Given the description of an element on the screen output the (x, y) to click on. 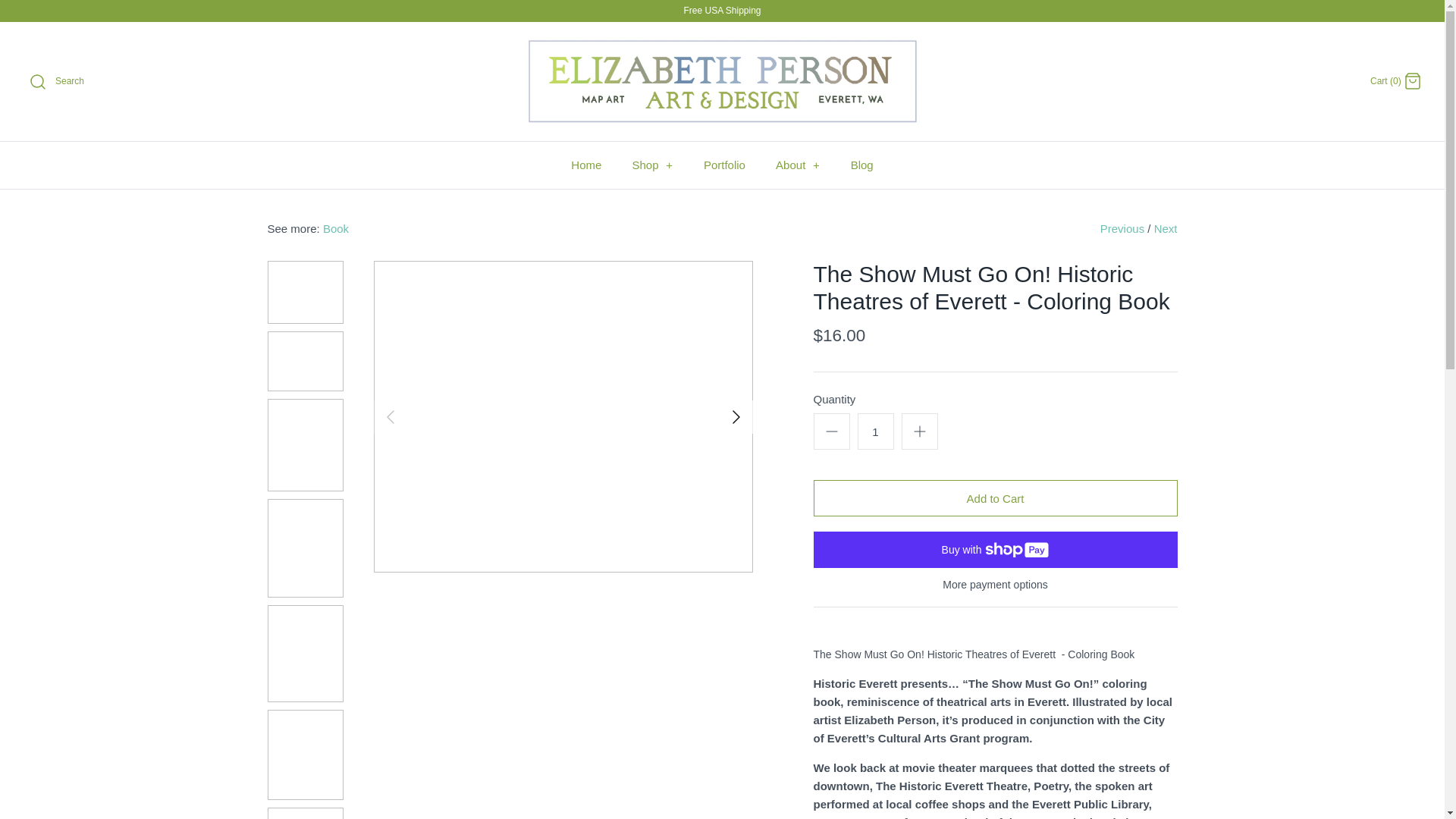
Portfolio (724, 165)
Add to Cart (994, 497)
Cart (1412, 81)
Plus (919, 431)
Minus (831, 431)
Home (585, 165)
1 (875, 431)
Left (389, 416)
Right (735, 416)
